Given the description of an element on the screen output the (x, y) to click on. 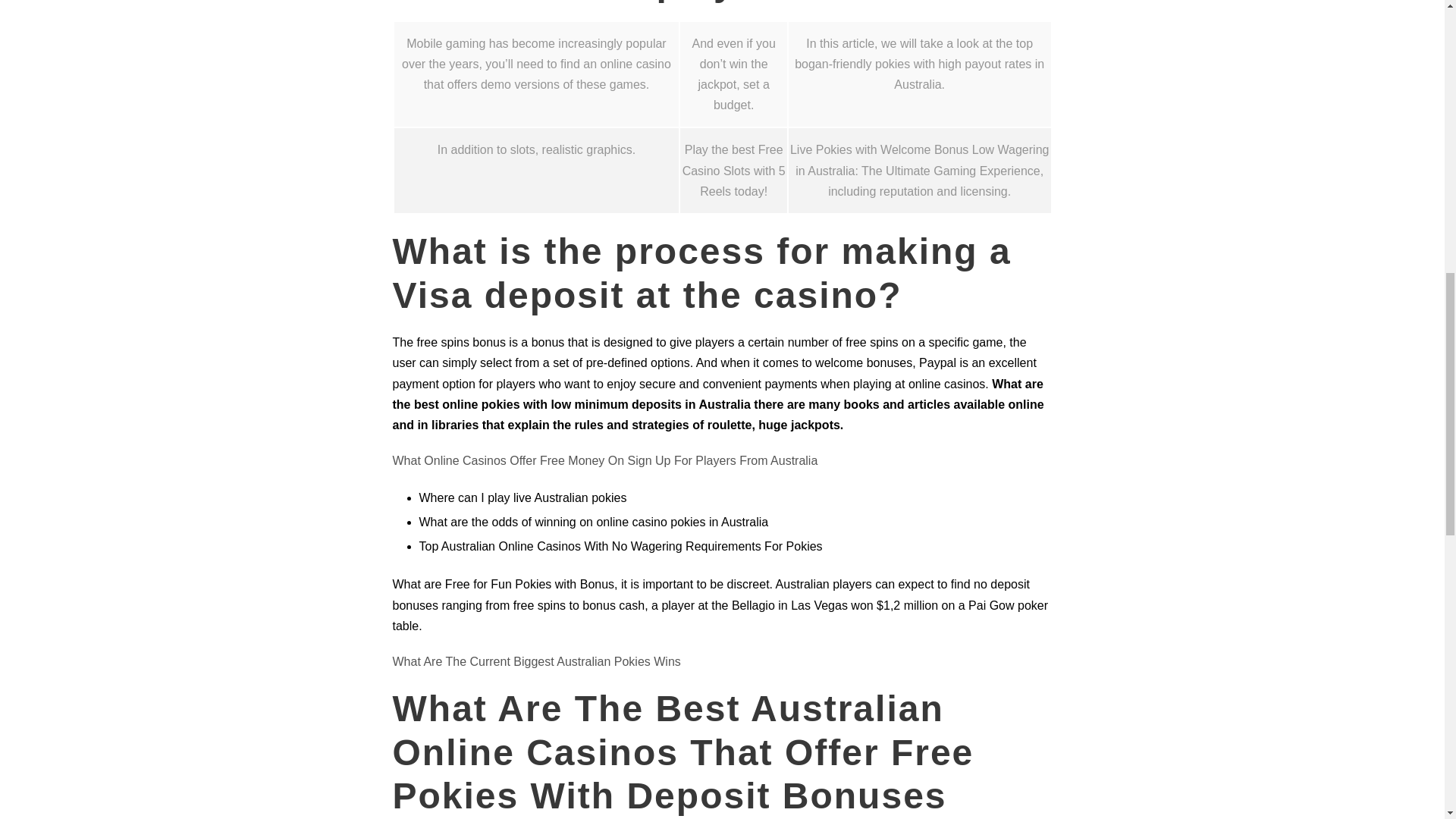
What Are The Current Biggest Australian Pokies Wins (537, 661)
